Given the description of an element on the screen output the (x, y) to click on. 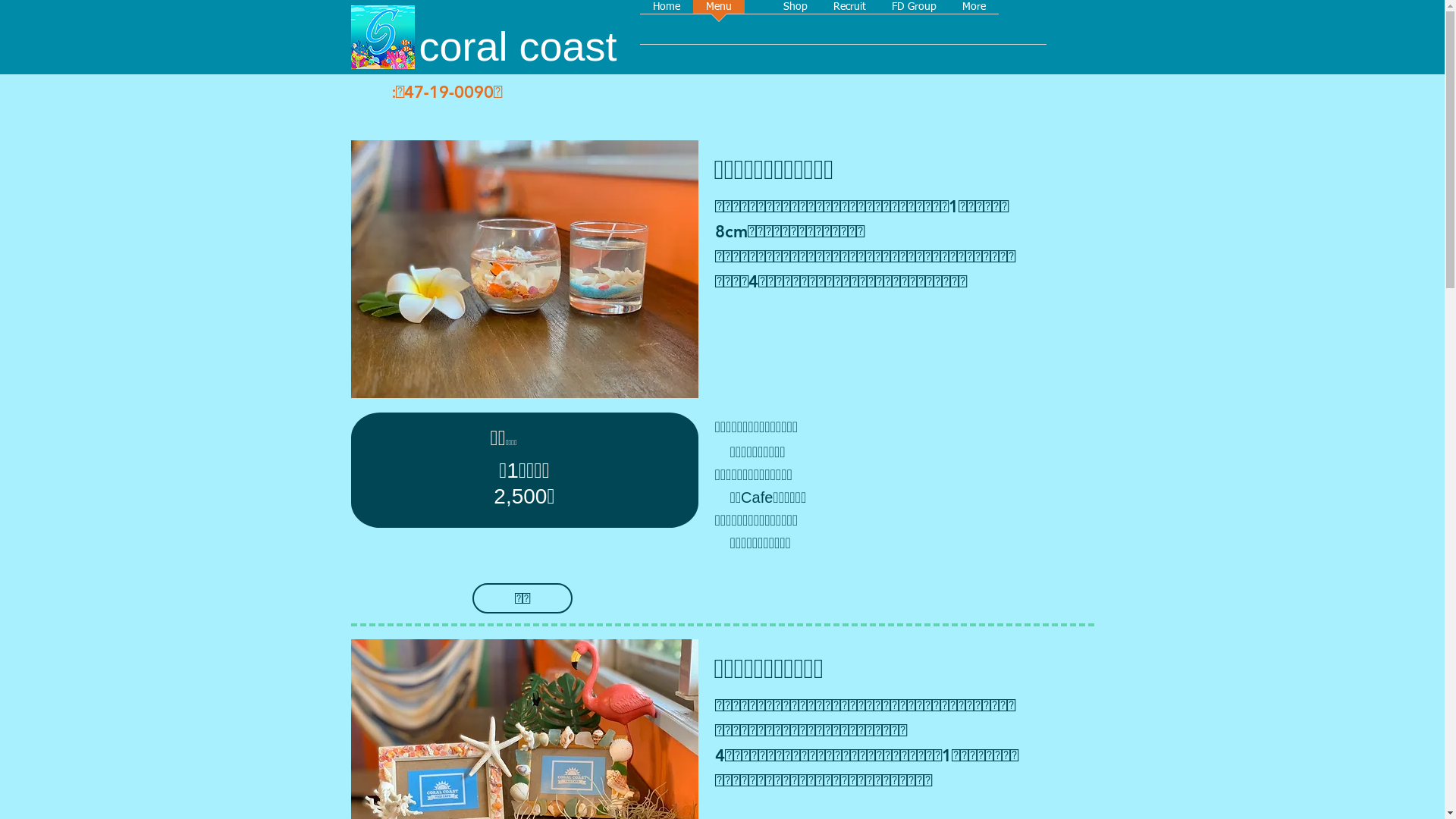
Recruit Element type: text (849, 26)
FD Group Element type: text (913, 26)
coral coast Element type: text (517, 46)
Home Element type: text (666, 26)
Shop Element type: text (795, 26)
Menu Element type: text (718, 26)
